Given the description of an element on the screen output the (x, y) to click on. 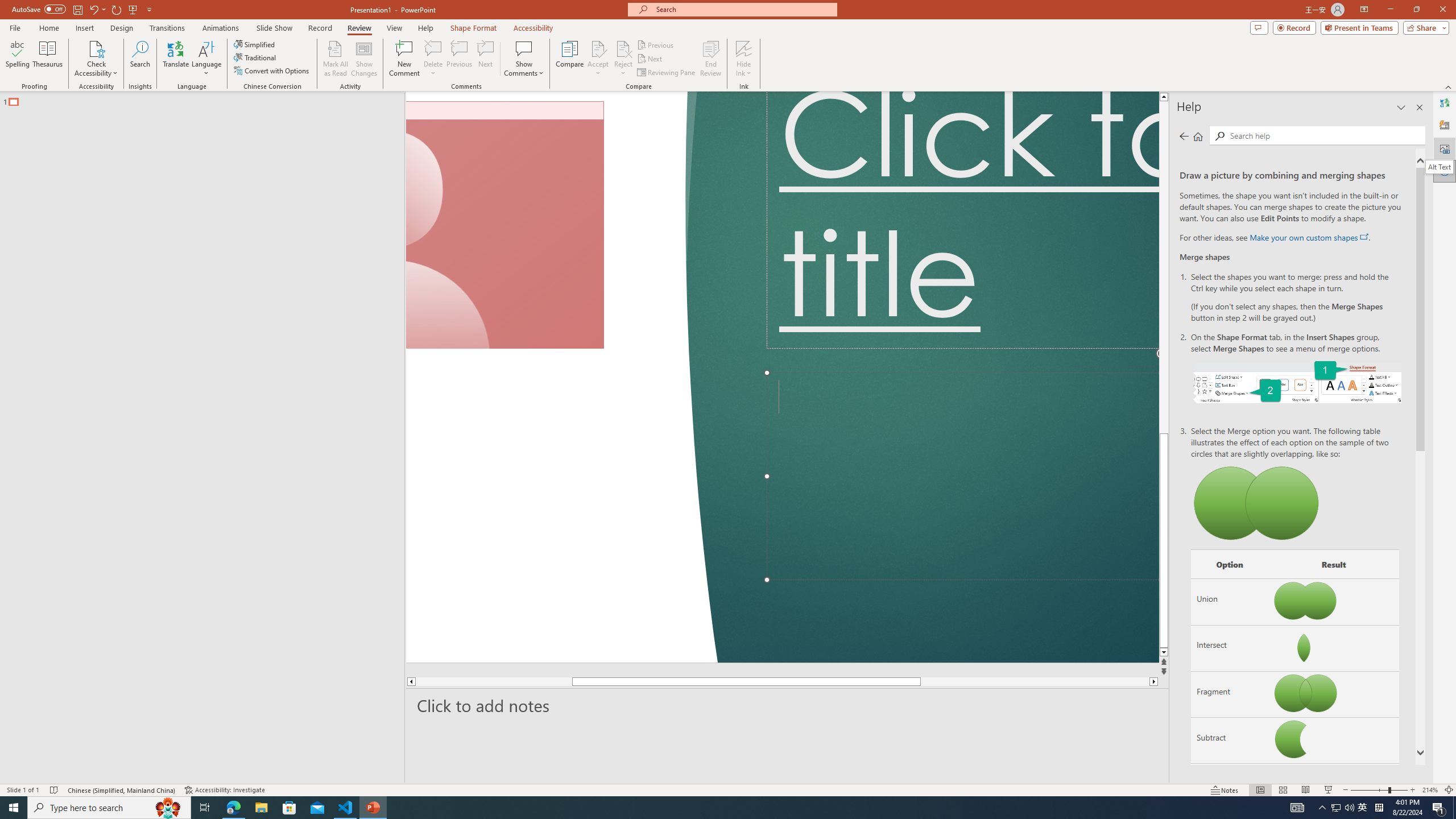
Undo (92, 9)
Rectangle (196, 437)
Title TextBox (962, 219)
Mark All as Read (335, 58)
Save (77, 9)
Line down (1245, 652)
Compare (569, 58)
Previous (655, 44)
Camera 7, No camera detected. (505, 224)
Zoom to Fit  (1449, 790)
Hide Ink (743, 48)
Thesaurus... (47, 58)
Close (1442, 9)
Home (48, 28)
